Given the description of an element on the screen output the (x, y) to click on. 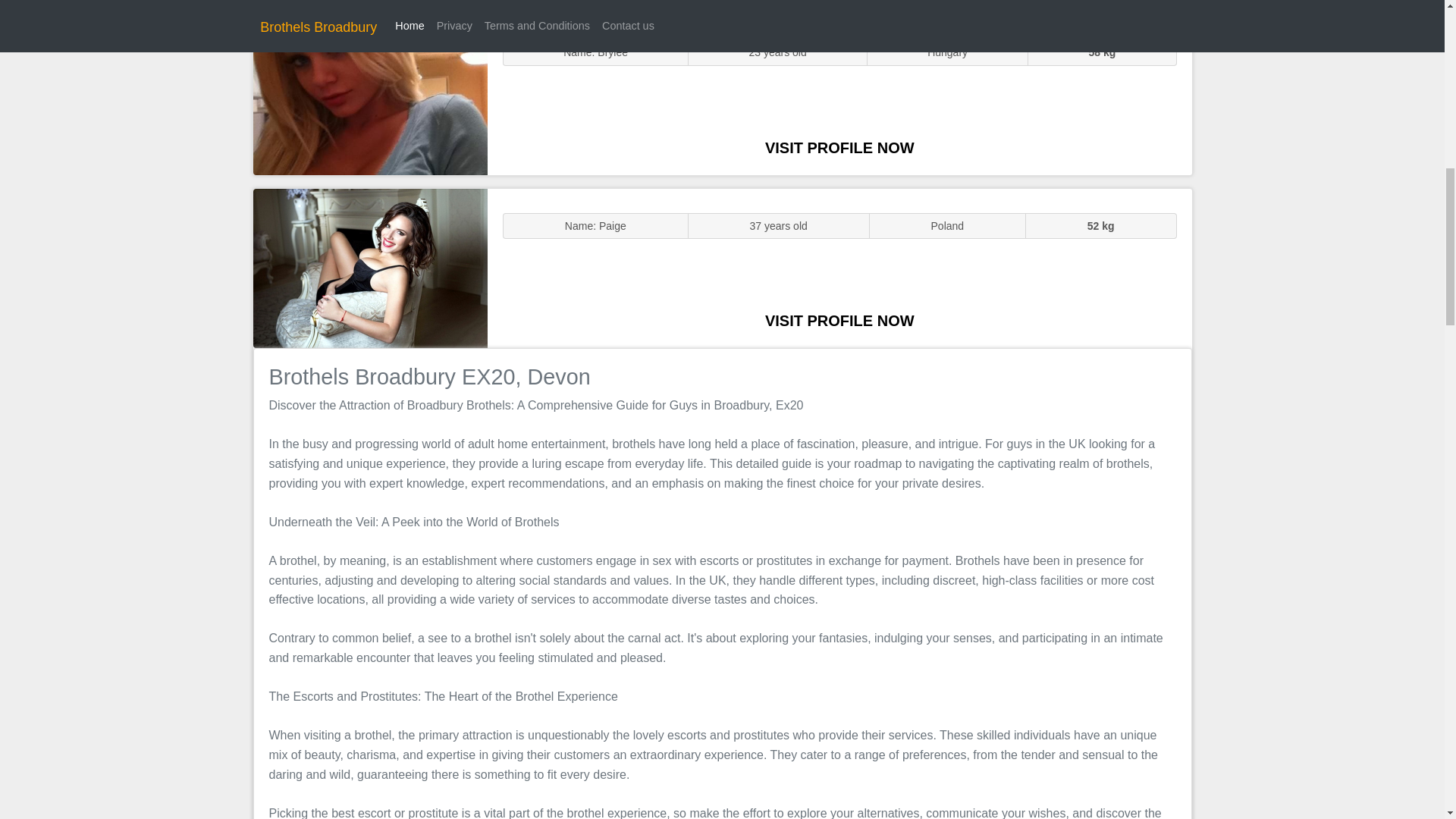
Sluts (370, 94)
VISIT PROFILE NOW (839, 147)
Massage (370, 267)
VISIT PROFILE NOW (839, 320)
